Given the description of an element on the screen output the (x, y) to click on. 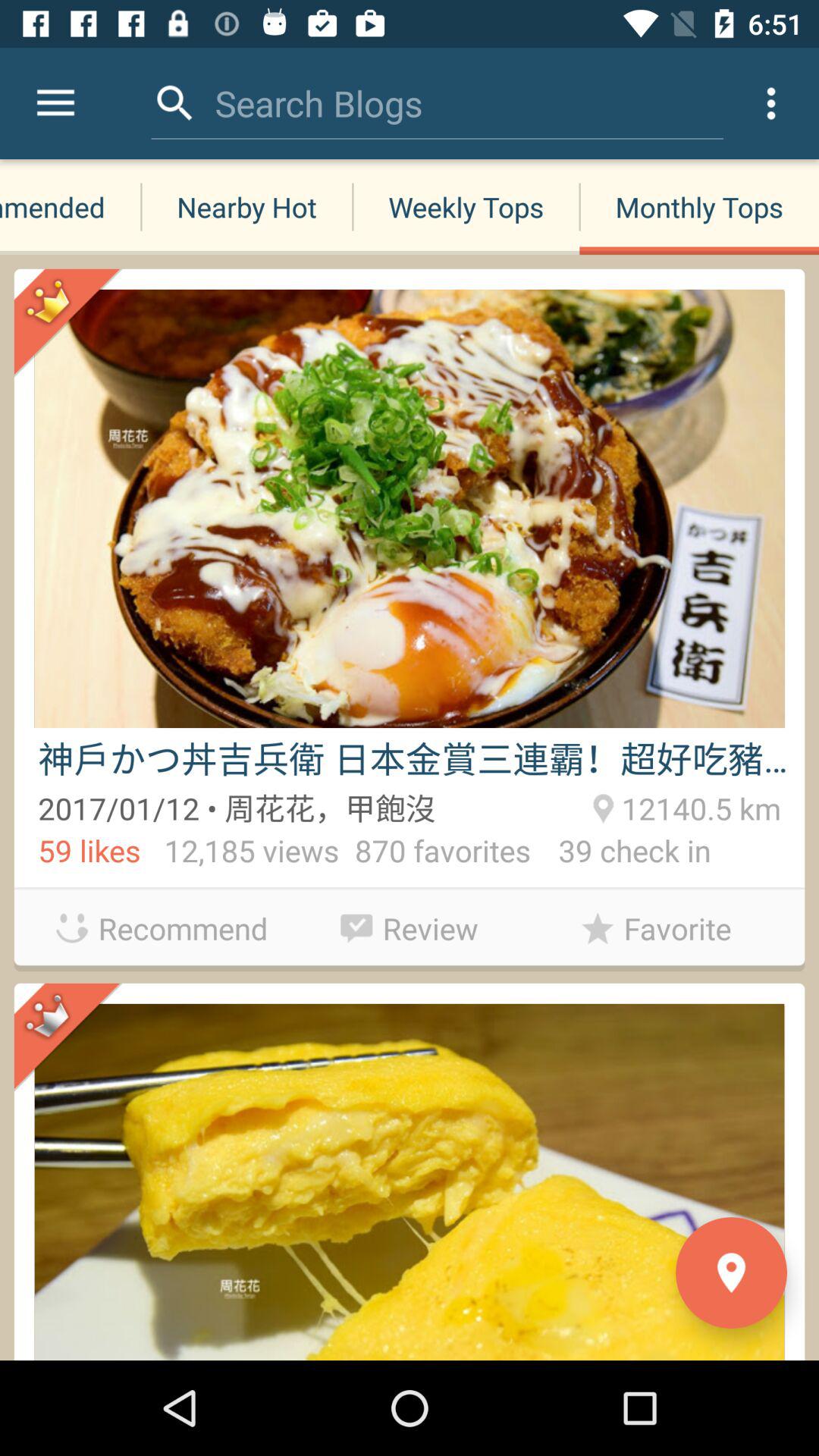
press the item to the right of 870 favorites icon (620, 854)
